Given the description of an element on the screen output the (x, y) to click on. 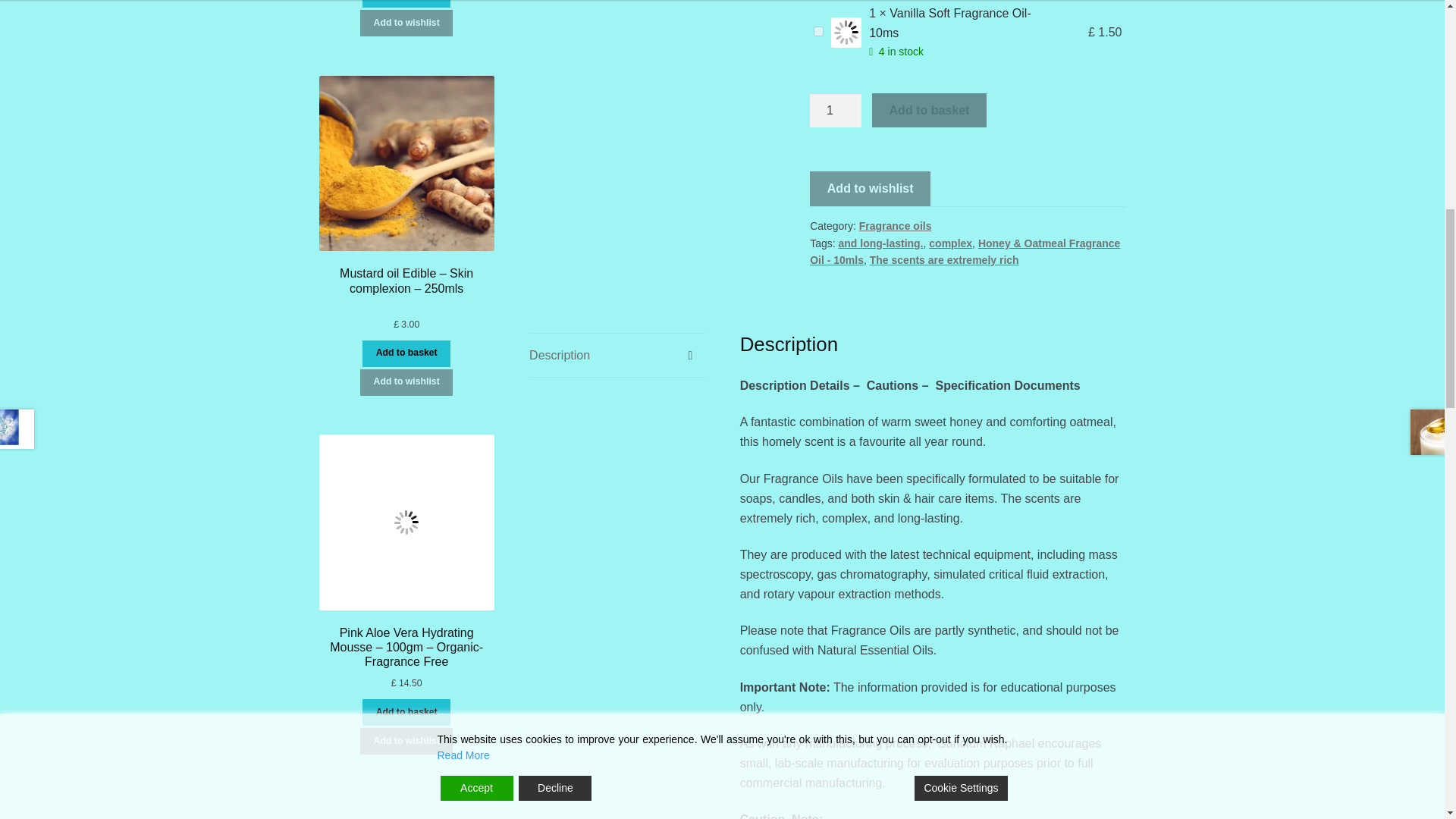
2247 (818, 31)
1 (835, 110)
